Given the description of an element on the screen output the (x, y) to click on. 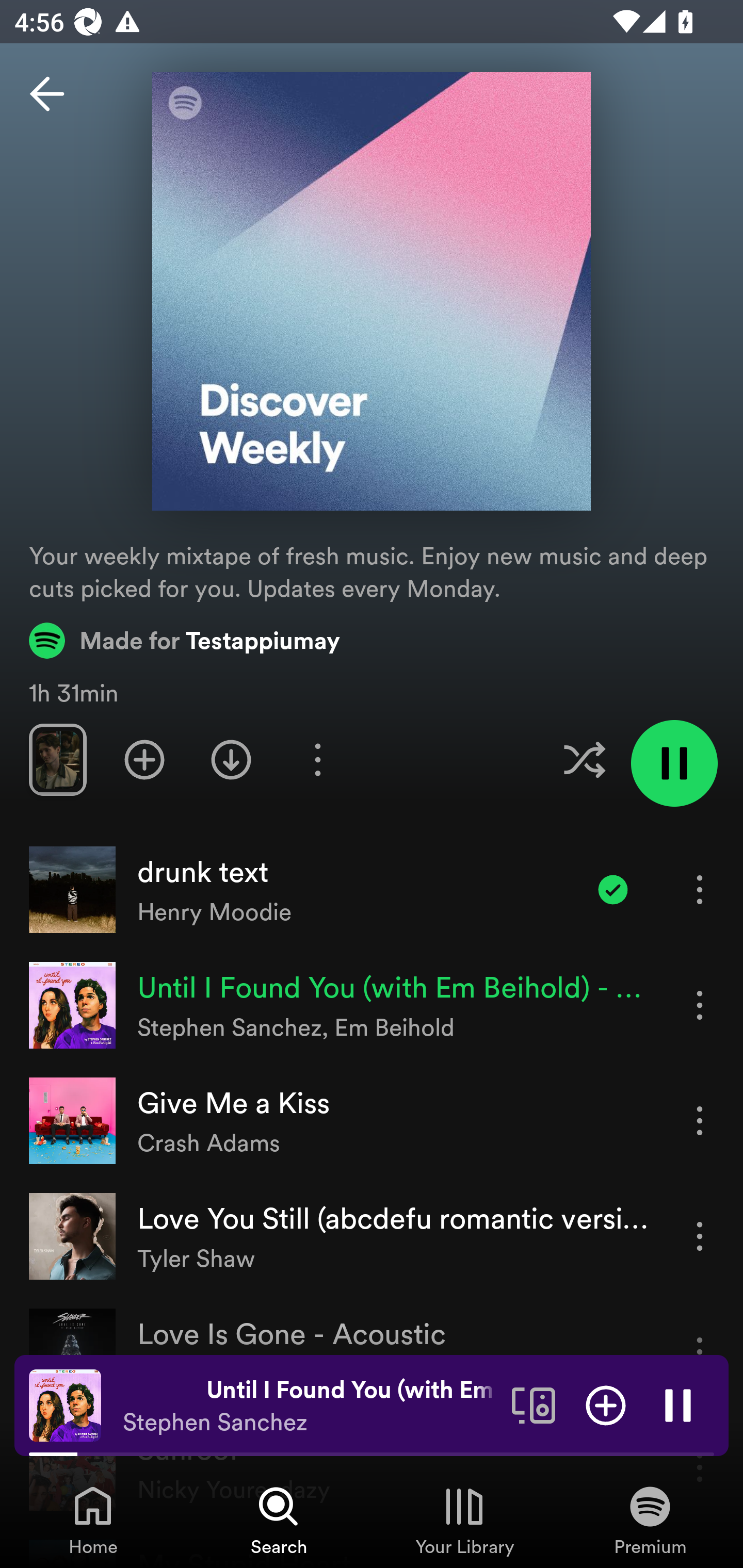
Back (46, 93)
Made for Testappiumay (184, 640)
Swipe through previews of tracks in this playlist. (57, 759)
Add playlist to Your Library (144, 759)
Download (230, 759)
More options for playlist Discover Weekly (317, 759)
Enable shuffle for this playlist (583, 759)
Pause playlist (674, 763)
Item added (612, 889)
More options for song drunk text (699, 889)
More options for song Give Me a Kiss (699, 1120)
The cover art of the currently playing track (64, 1404)
Connect to a device. Opens the devices menu (533, 1404)
Add item (605, 1404)
Pause (677, 1404)
Home, Tab 1 of 4 Home Home (92, 1519)
Search, Tab 2 of 4 Search Search (278, 1519)
Your Library, Tab 3 of 4 Your Library Your Library (464, 1519)
Premium, Tab 4 of 4 Premium Premium (650, 1519)
